Given the description of an element on the screen output the (x, y) to click on. 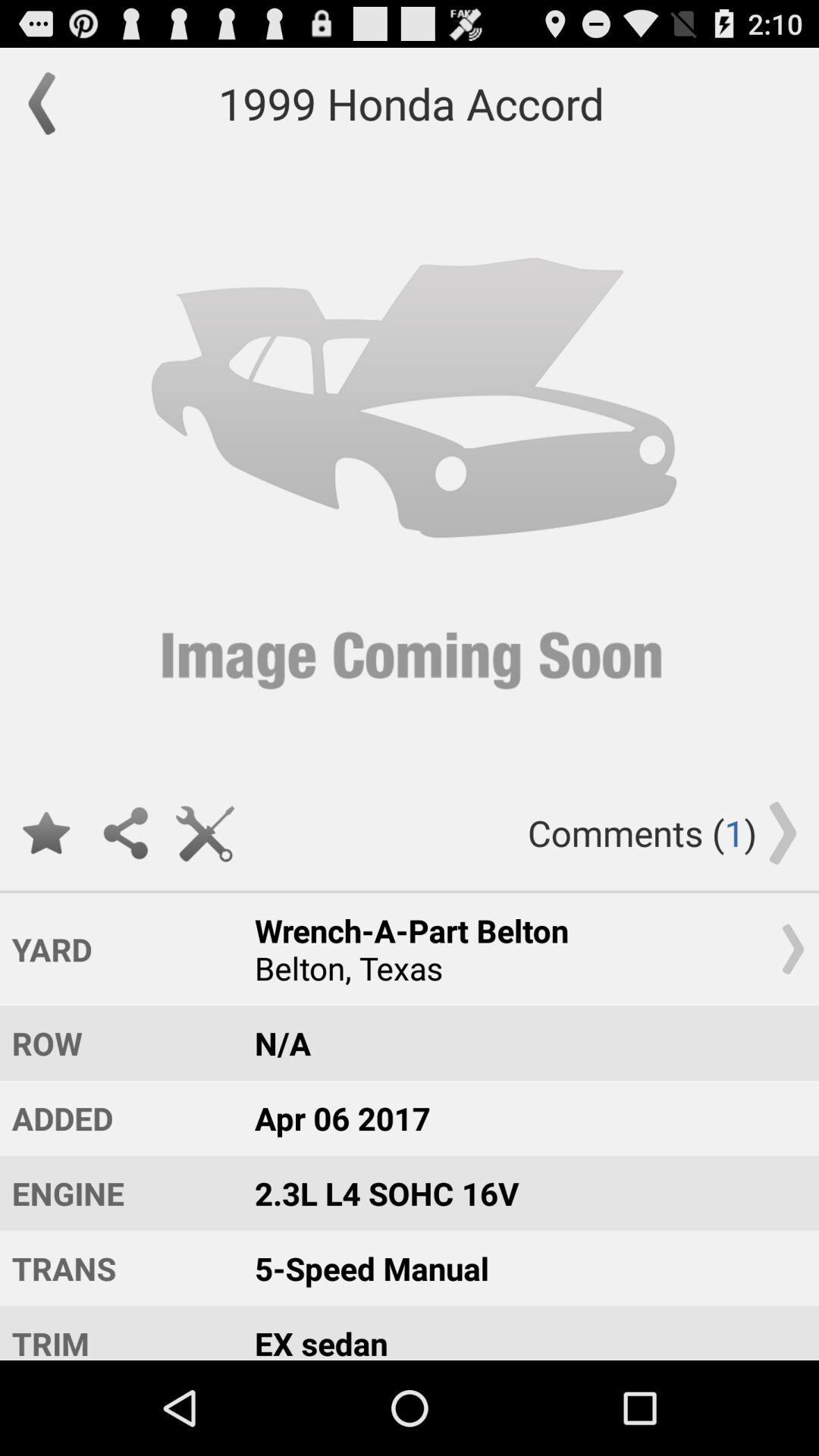
like the product (45, 833)
